Given the description of an element on the screen output the (x, y) to click on. 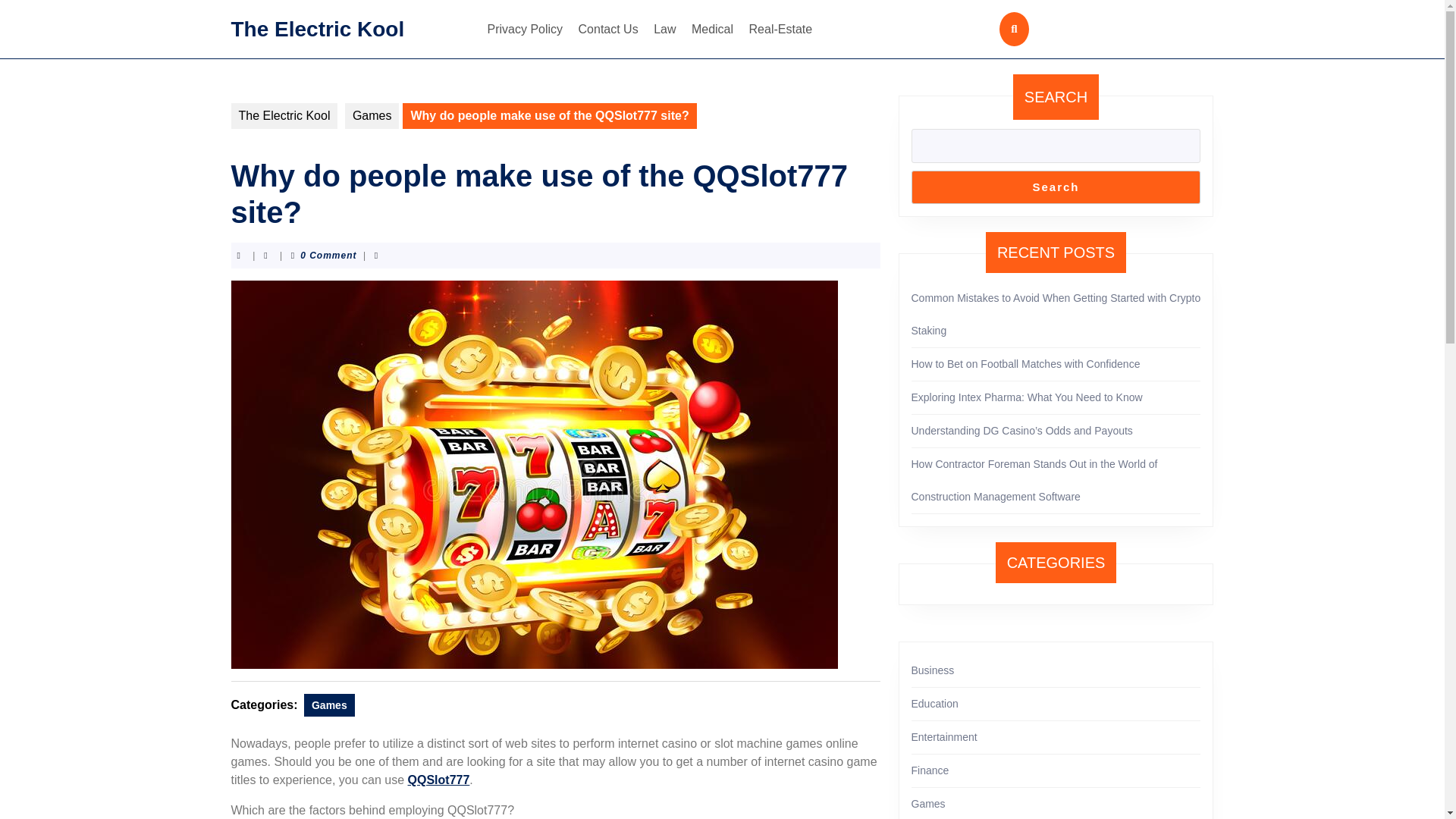
Medical (712, 28)
Privacy Policy (524, 28)
Exploring Intex Pharma: What You Need to Know (1026, 397)
The Electric Kool (317, 28)
QQSlot777 (438, 779)
Law (664, 28)
Contact Us (608, 28)
Games (371, 115)
